Given the description of an element on the screen output the (x, y) to click on. 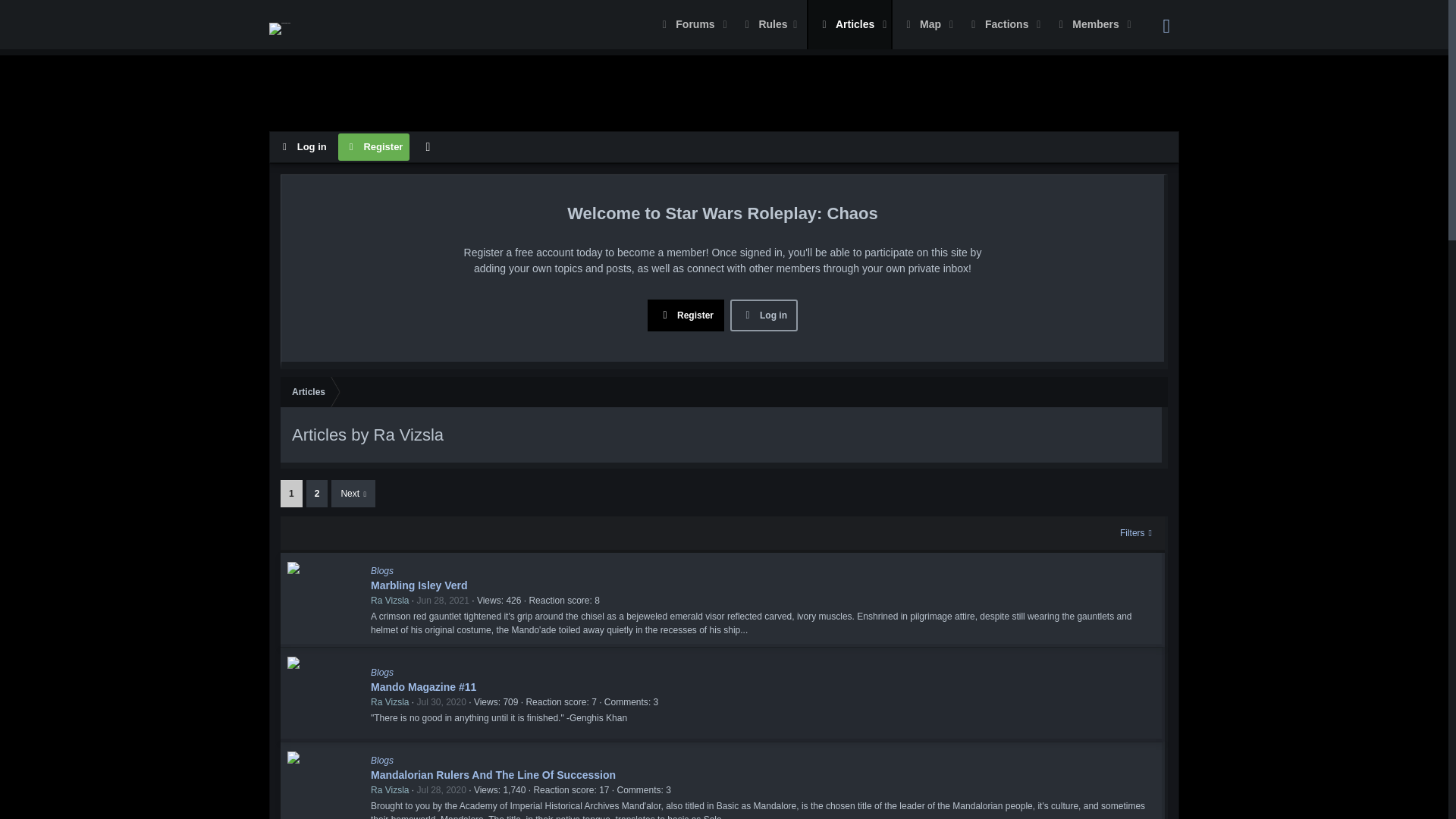
Rules (768, 24)
Jul 28, 2020 at 3:53 PM (440, 789)
Jul 30, 2020 at 8:04 AM (440, 701)
Articles (848, 24)
Jun 28, 2021 at 7:41 PM (442, 600)
Map (913, 24)
Customize (924, 24)
Forums (428, 146)
